Given the description of an element on the screen output the (x, y) to click on. 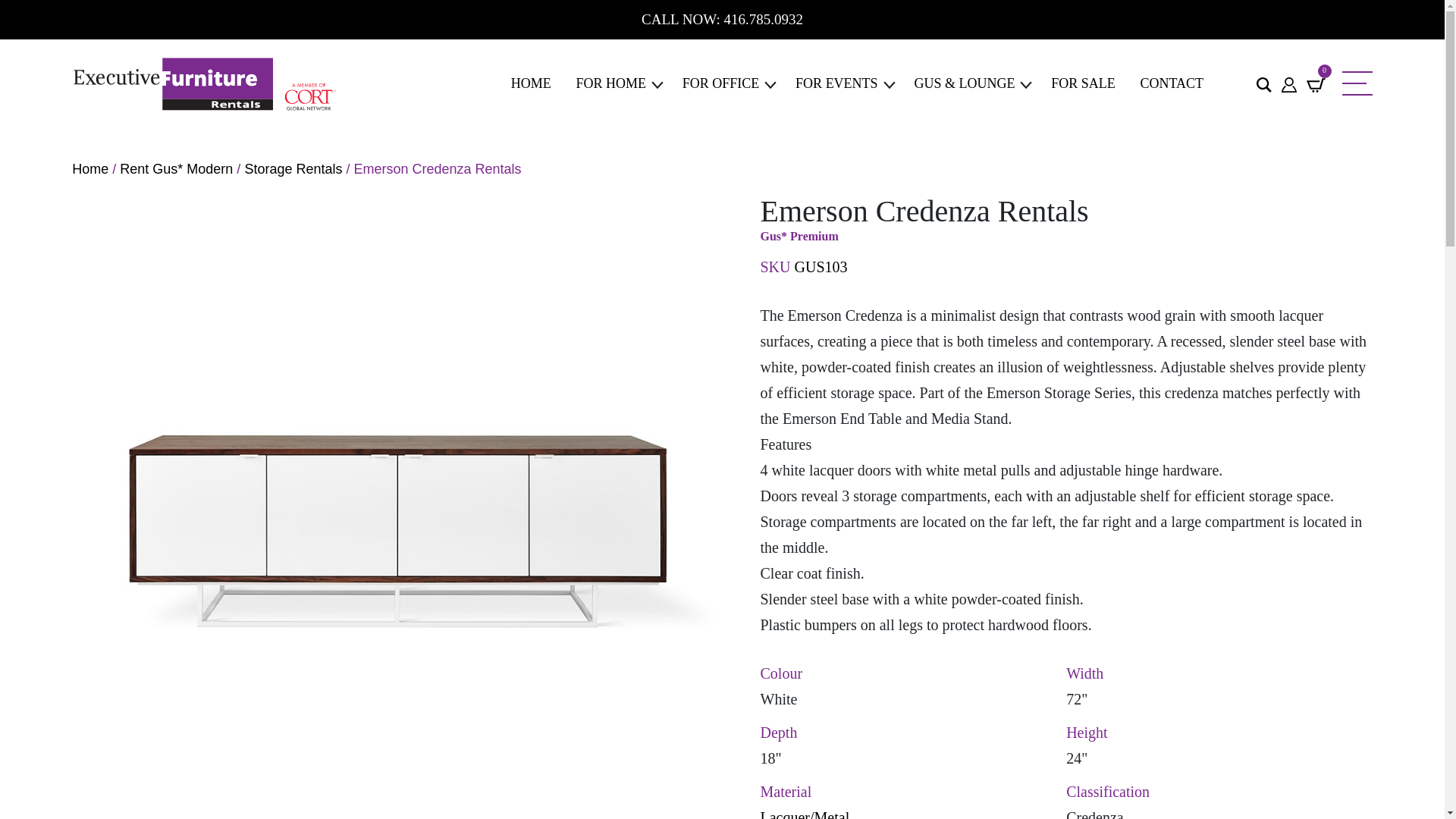
416.785.0932 (763, 19)
